Given the description of an element on the screen output the (x, y) to click on. 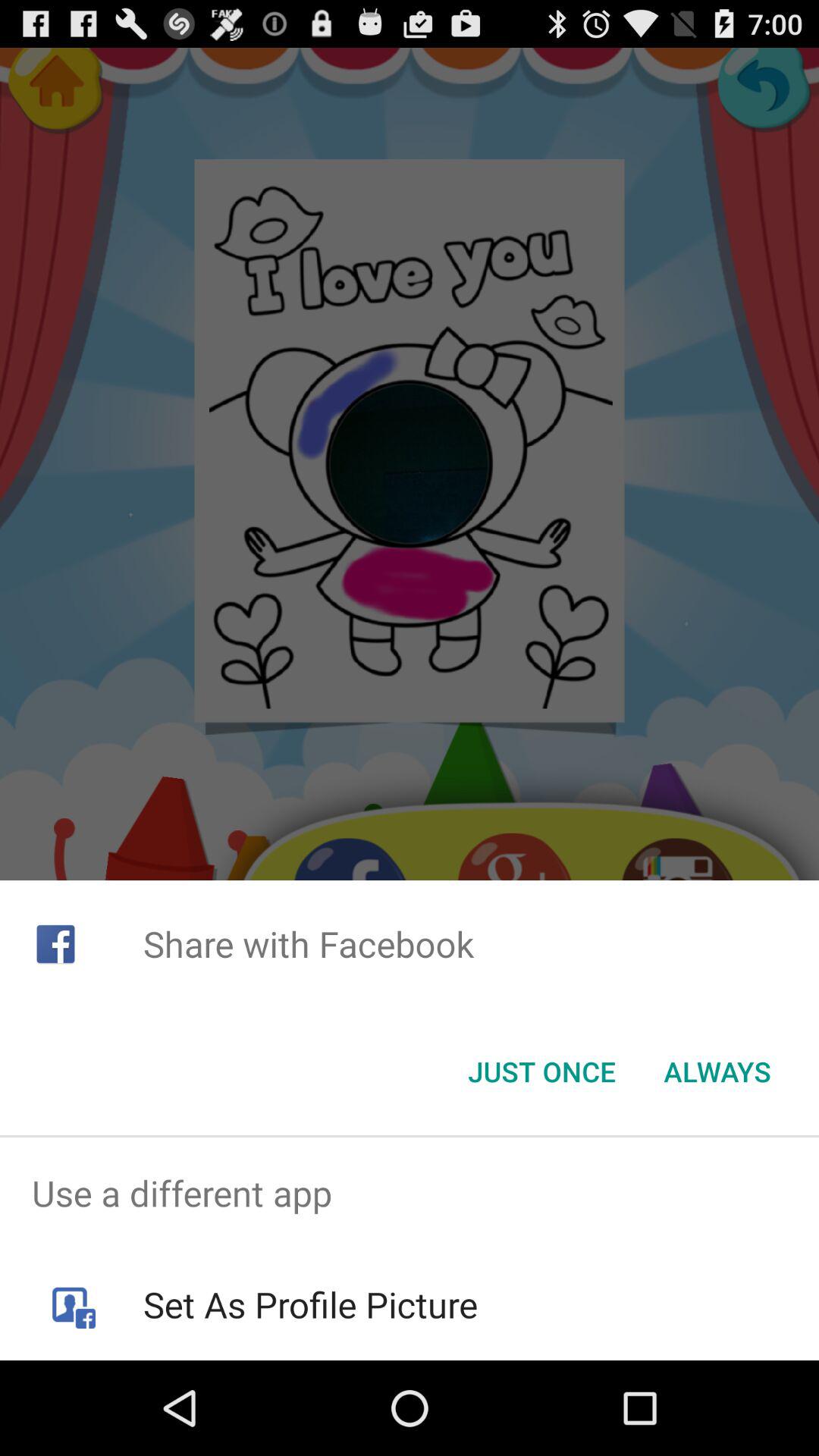
turn on the use a different icon (409, 1192)
